Given the description of an element on the screen output the (x, y) to click on. 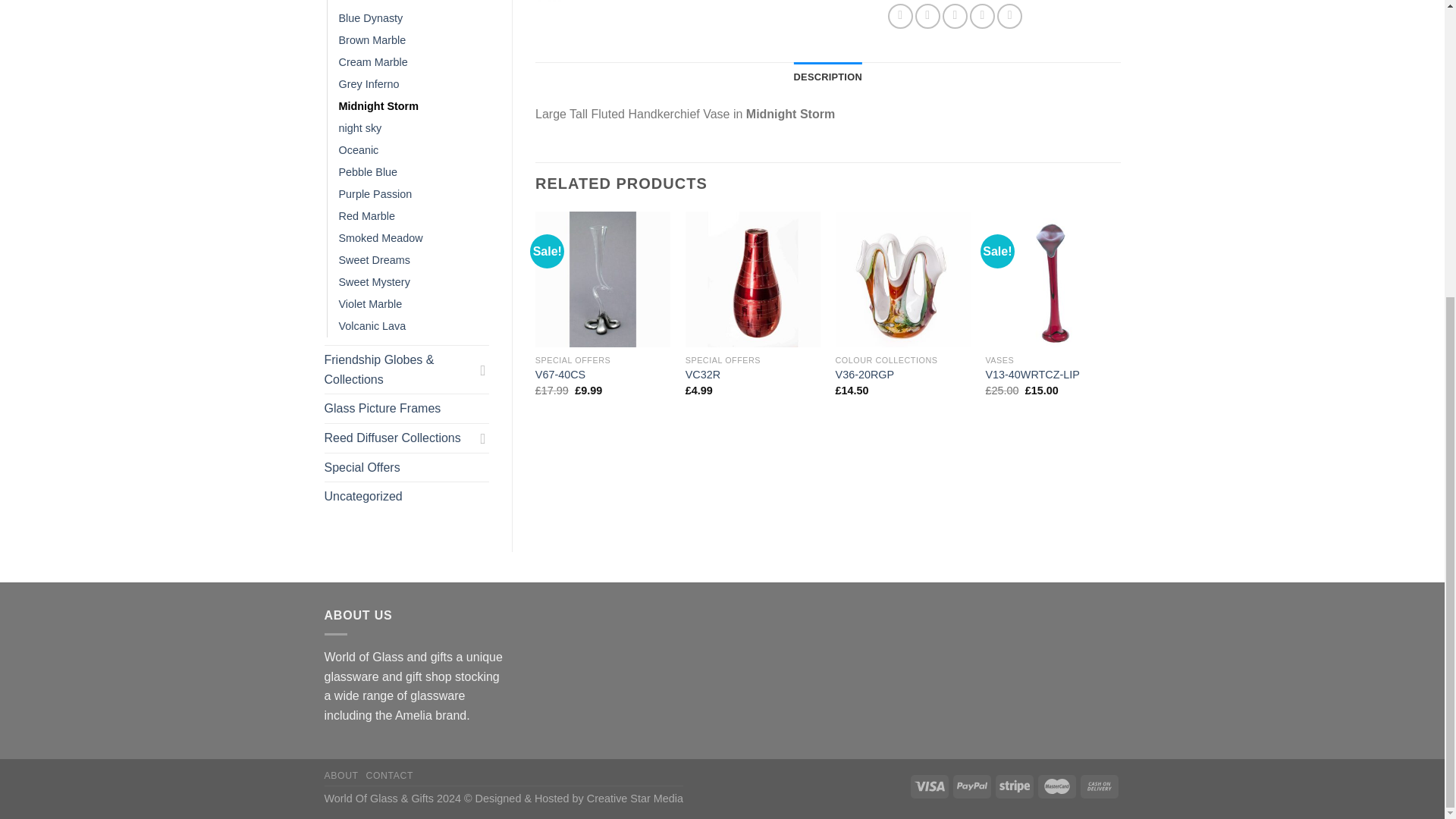
Pin on Pinterest (981, 16)
Share on LinkedIn (1009, 16)
Share on Twitter (927, 16)
Email to a Friend (955, 16)
Share on Facebook (900, 16)
